Given the description of an element on the screen output the (x, y) to click on. 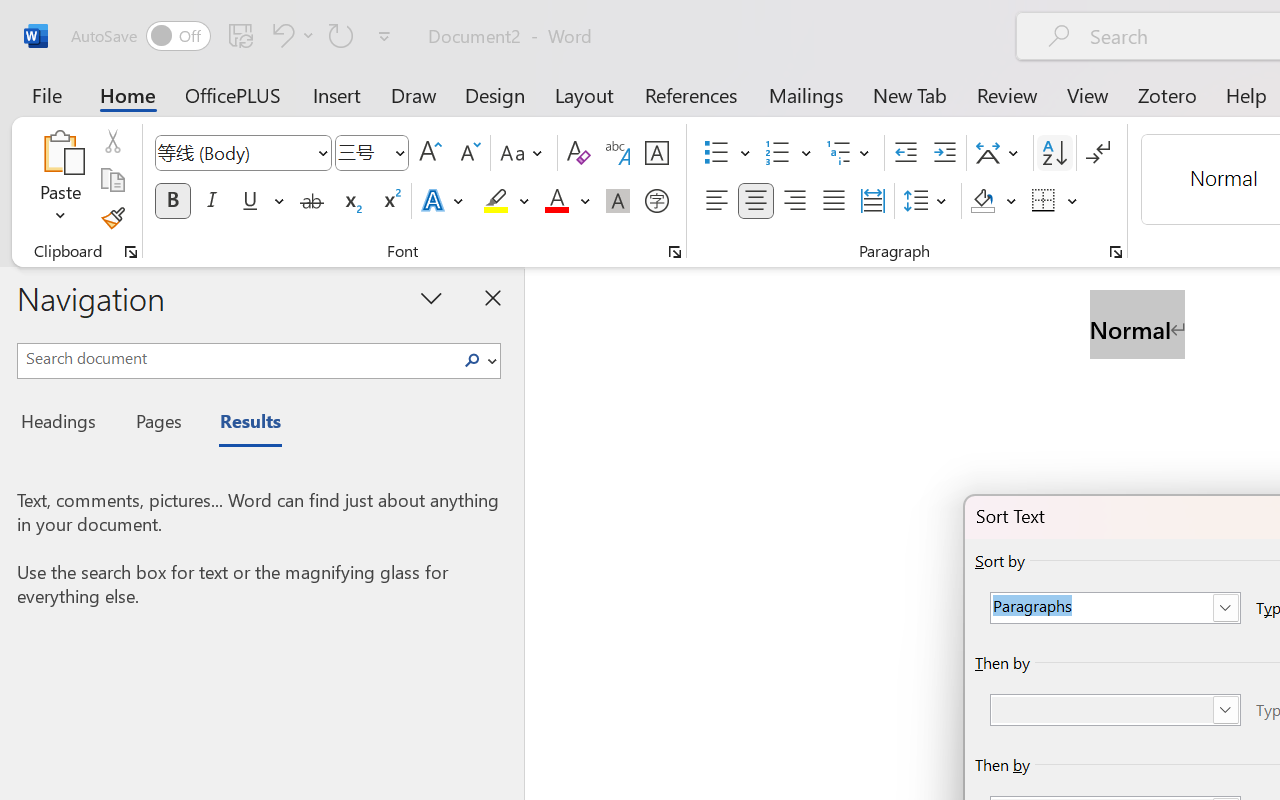
Office Clipboard... (131, 252)
Draw (413, 94)
Phonetic Guide... (618, 153)
Font... (675, 252)
Align Left (716, 201)
References (690, 94)
Asian Layout (1000, 153)
Search (471, 360)
OfficePLUS (233, 94)
Layout (584, 94)
Shrink Font (468, 153)
Numbering (788, 153)
